Given the description of an element on the screen output the (x, y) to click on. 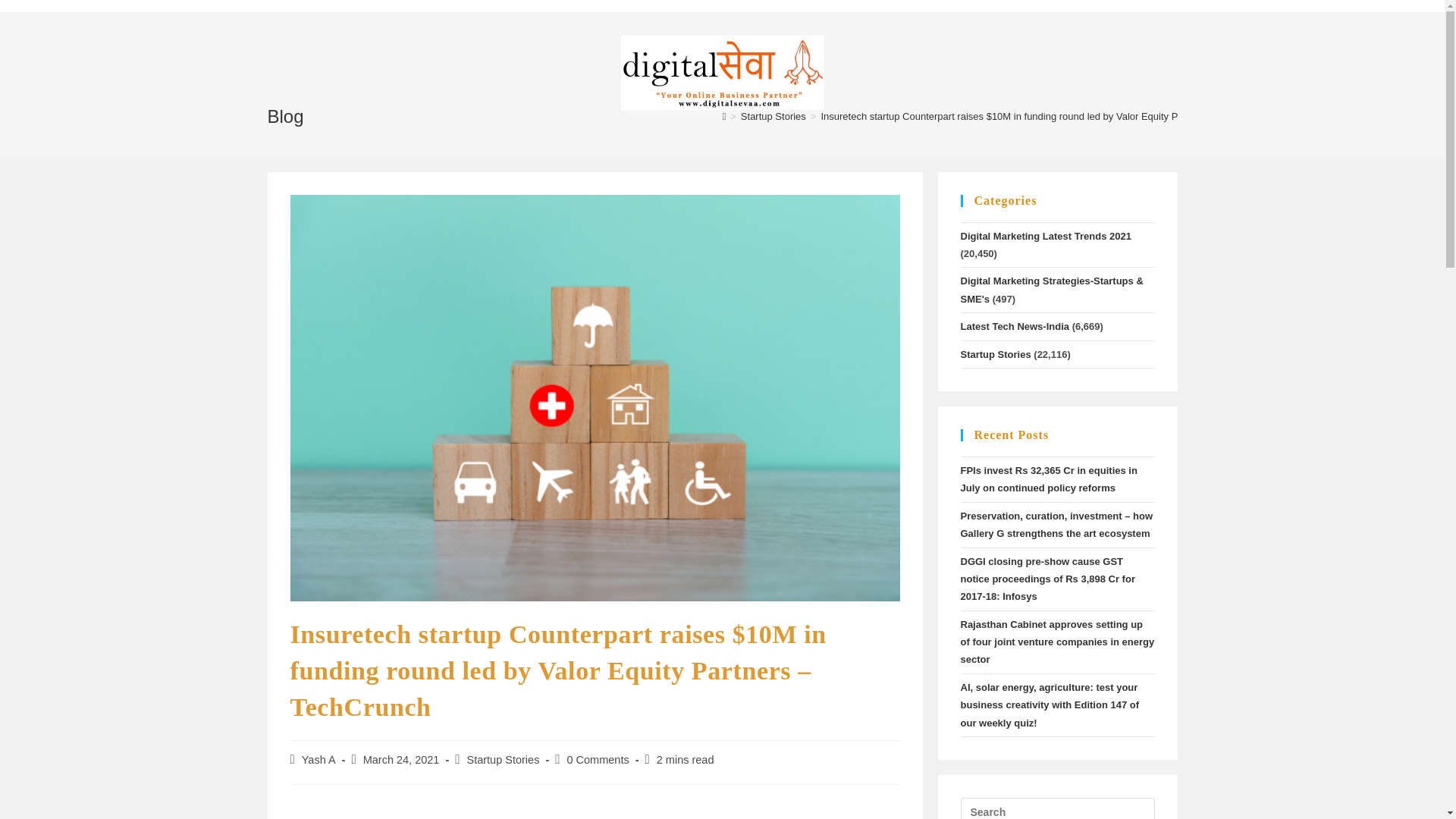
Latest Tech News-India (1013, 326)
Startup Stories (994, 354)
Digital Marketing Latest Trends 2021 (1045, 235)
Yash A (318, 759)
0 Comments (597, 759)
Posts by Yash A (318, 759)
Startup Stories (773, 116)
Startup Stories (501, 759)
